Given the description of an element on the screen output the (x, y) to click on. 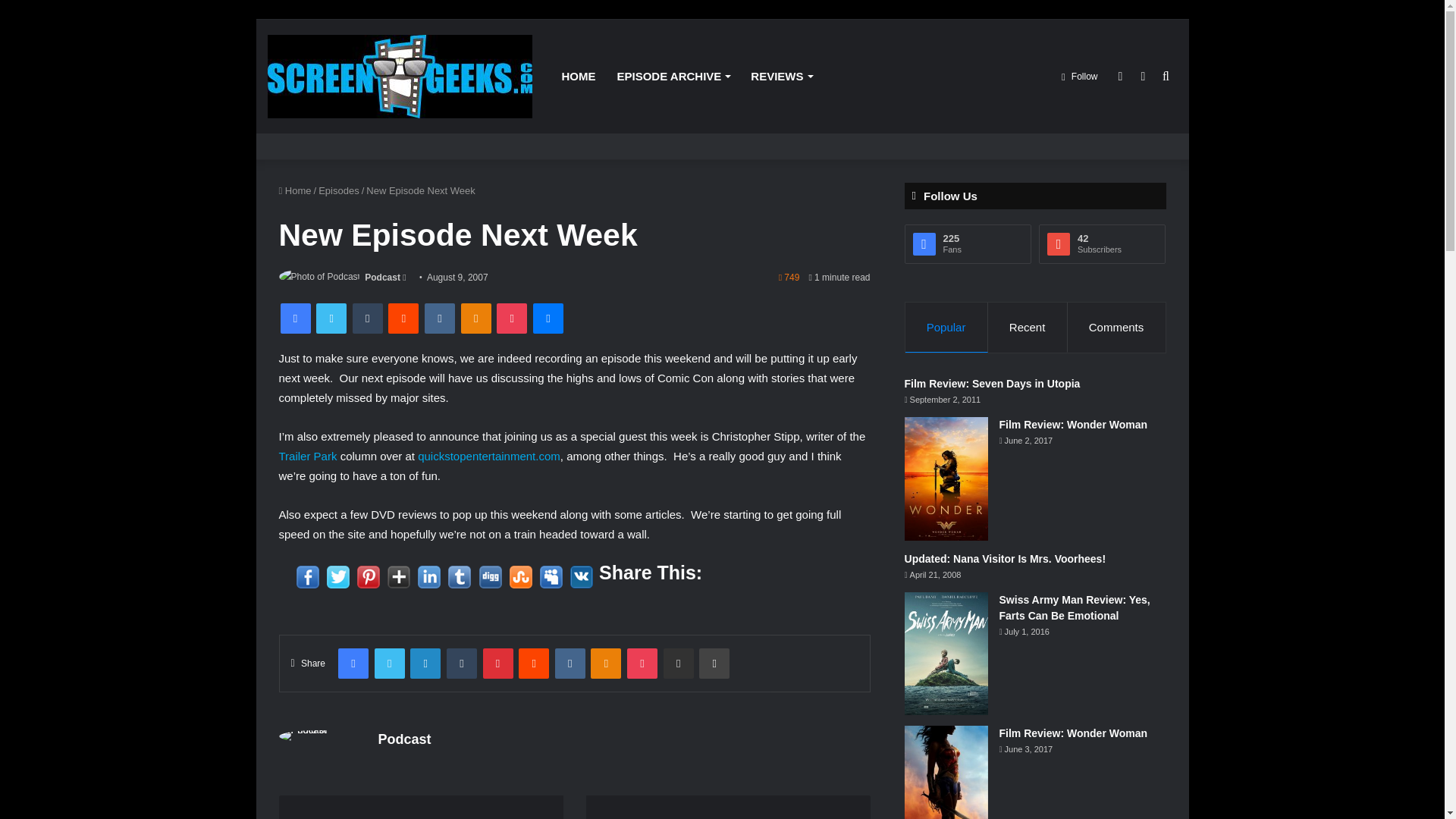
ScreenGeeks.com (398, 76)
Trailer Park (308, 455)
Podcast (382, 276)
Twitter (330, 318)
Facebook (296, 318)
Trailer Park (308, 455)
VKontakte (439, 318)
Messenger (547, 318)
Quick Stop Entertainment (488, 455)
Reddit (403, 318)
